Given the description of an element on the screen output the (x, y) to click on. 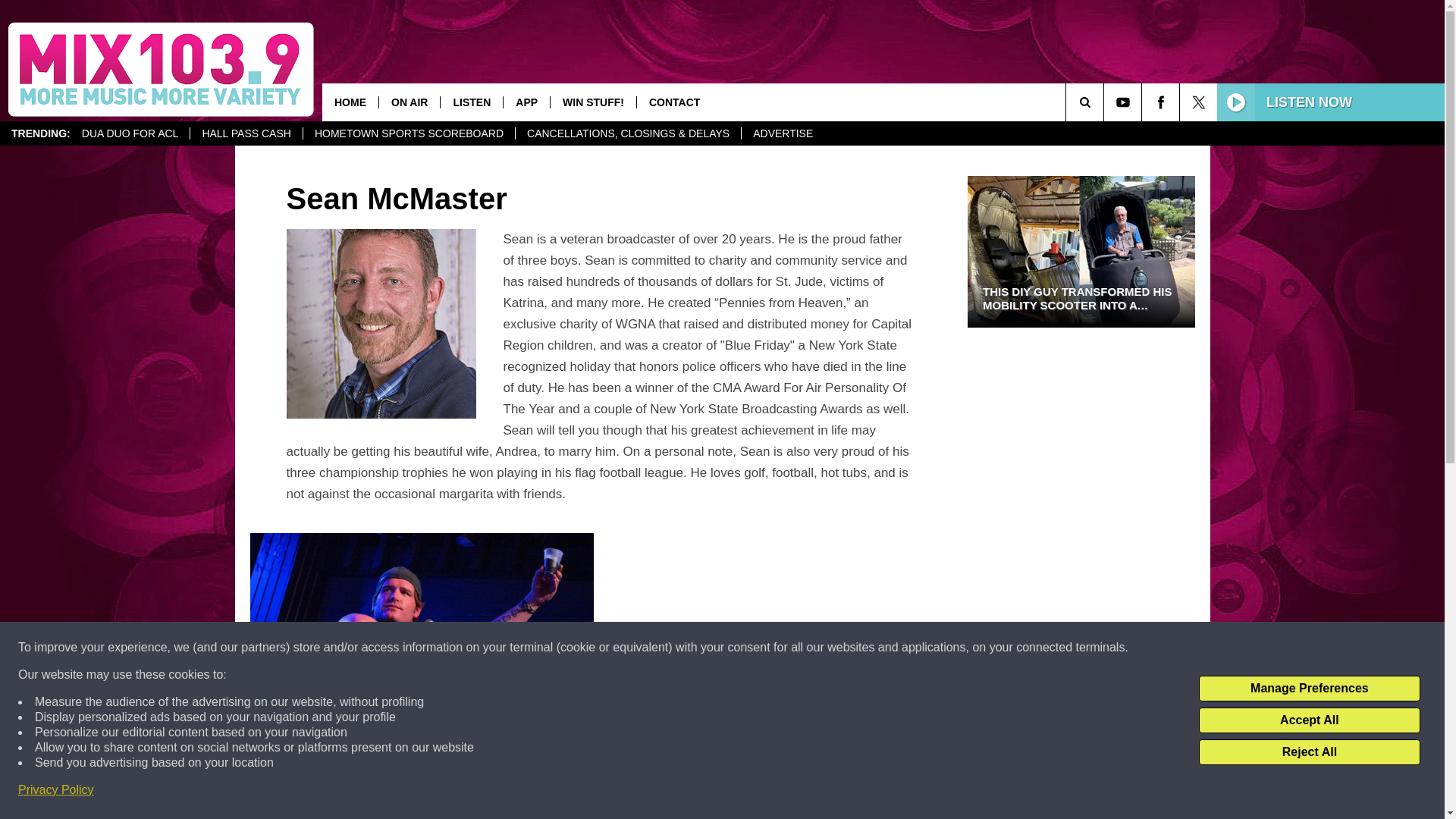
Reject All (1309, 751)
SEARCH (1106, 102)
Accept All (1309, 720)
Privacy Policy (55, 789)
HOMETOWN SPORTS SCOREBOARD (408, 133)
ON AIR (408, 102)
LISTEN (470, 102)
DUA DUO FOR ACL (129, 133)
WIN STUFF! (593, 102)
HALL PASS CASH (245, 133)
CONTACT (673, 102)
SEARCH (1106, 102)
ADVERTISE (782, 133)
APP (526, 102)
Manage Preferences (1309, 688)
